Given the description of an element on the screen output the (x, y) to click on. 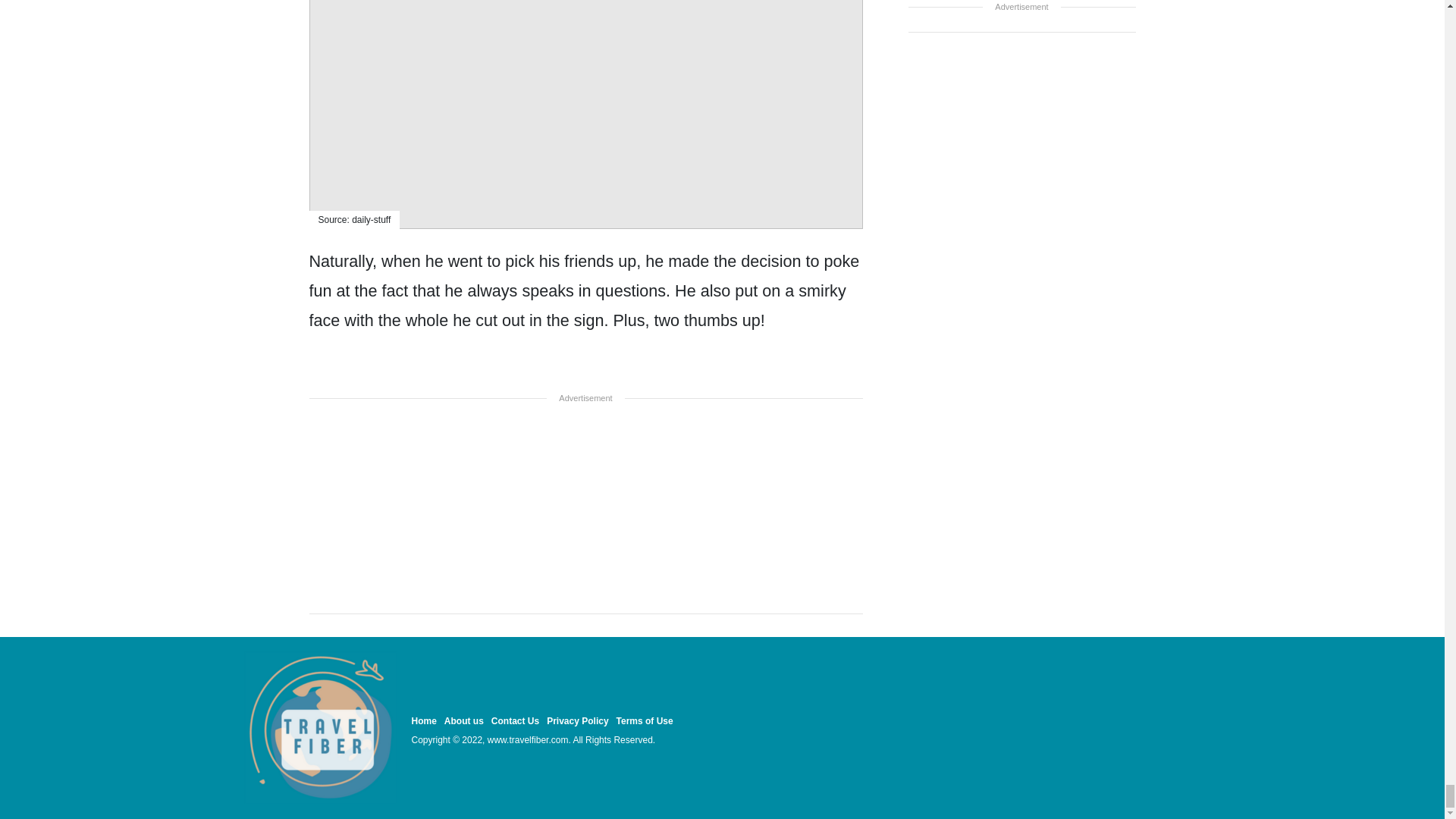
About us (463, 720)
Home (422, 720)
Terms of Use (643, 720)
Contact Us (515, 720)
Privacy Policy (577, 720)
